Given the description of an element on the screen output the (x, y) to click on. 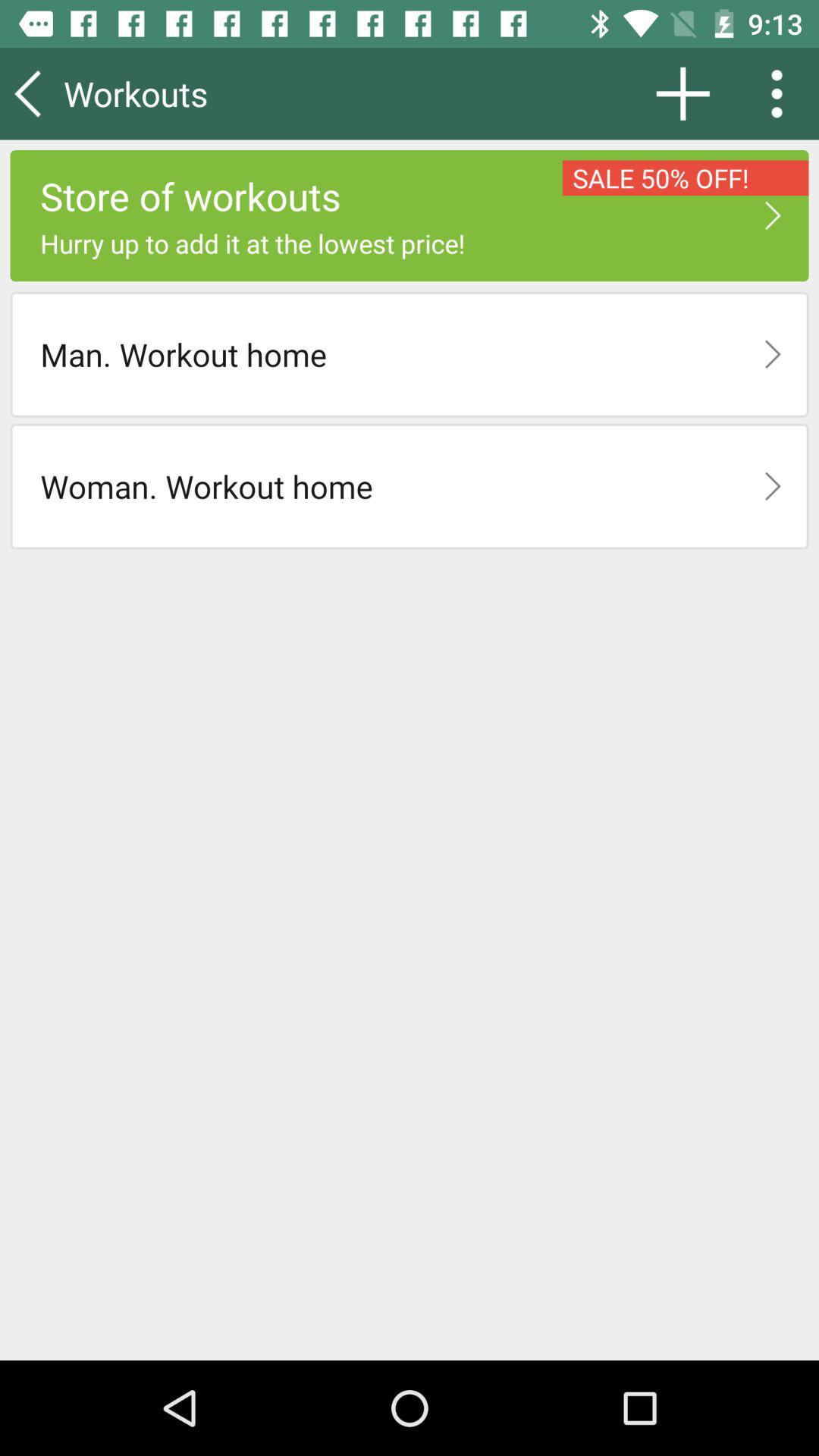
turn off app next to the workouts icon (682, 93)
